Given the description of an element on the screen output the (x, y) to click on. 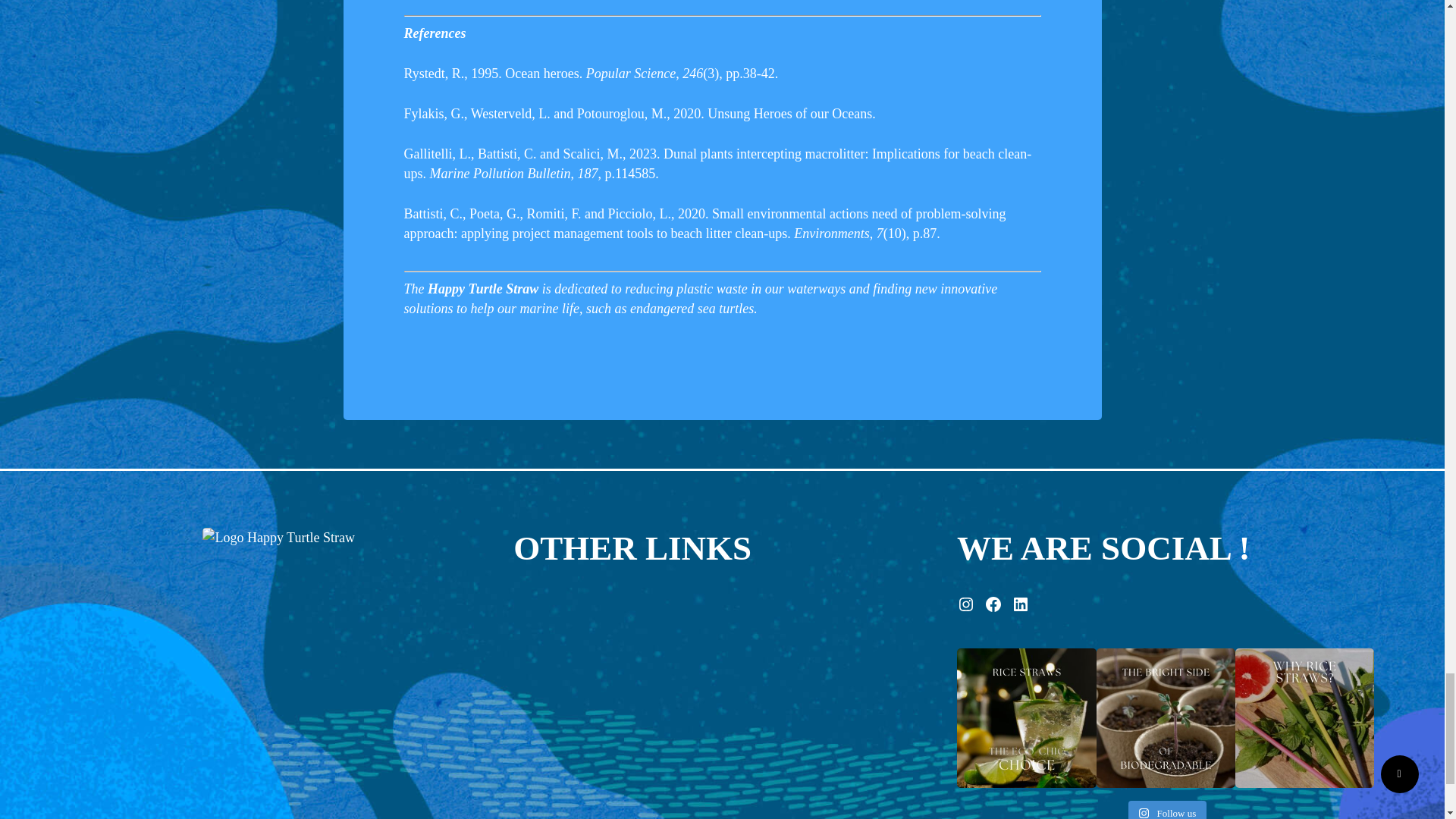
Facebook (993, 604)
Instagram (965, 604)
Follow us (1167, 809)
LinkedIn (1020, 604)
